Given the description of an element on the screen output the (x, y) to click on. 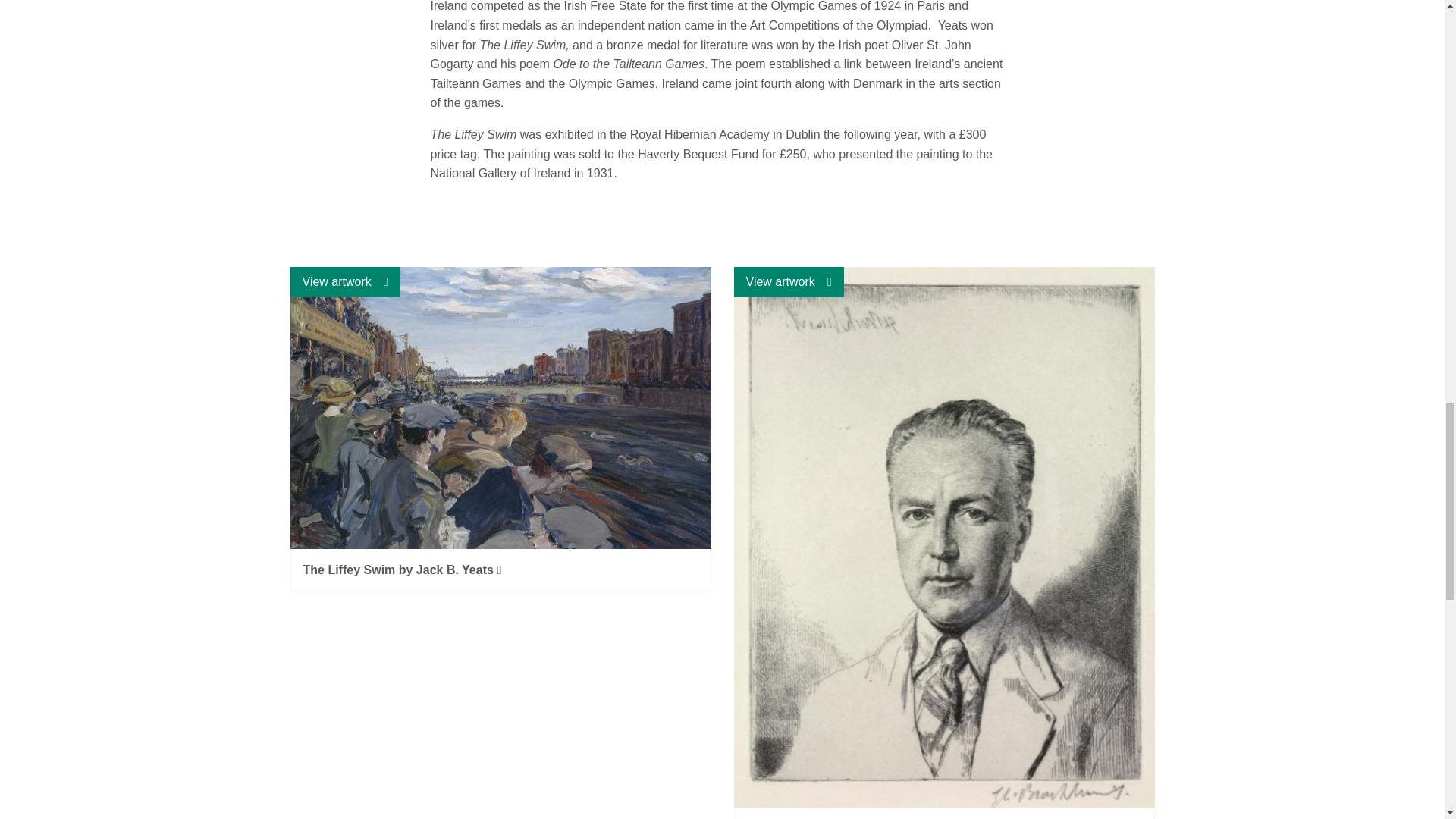
View artwork (788, 281)
View artwork (343, 281)
